Given the description of an element on the screen output the (x, y) to click on. 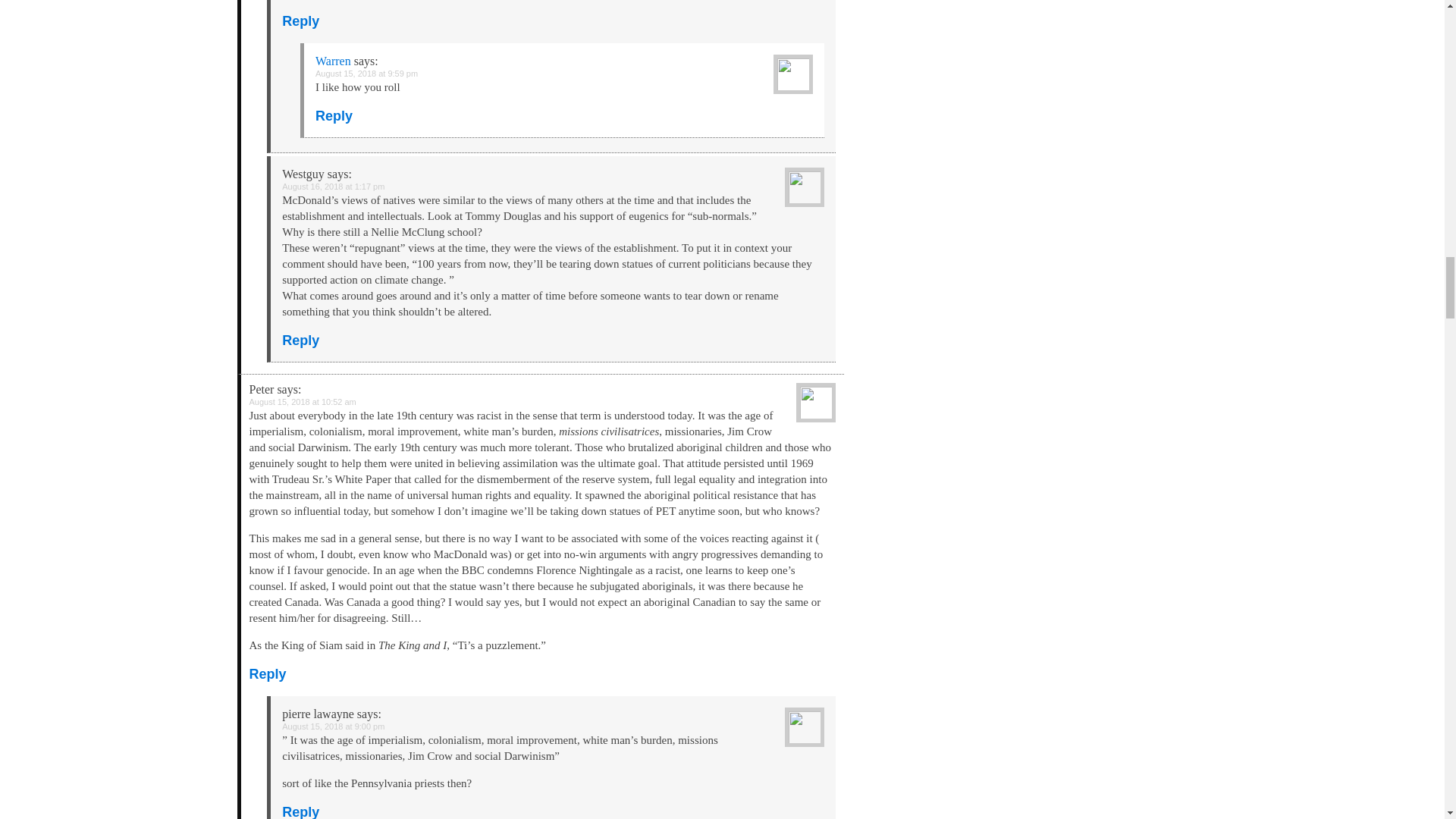
August 15, 2018 at 9:59 pm (366, 72)
Warren (332, 60)
Reply (300, 20)
Reply (266, 673)
August 16, 2018 at 1:17 pm (333, 185)
August 15, 2018 at 9:00 pm (333, 726)
Reply (300, 811)
Reply (300, 340)
August 15, 2018 at 10:52 am (301, 401)
Reply (333, 115)
